Given the description of an element on the screen output the (x, y) to click on. 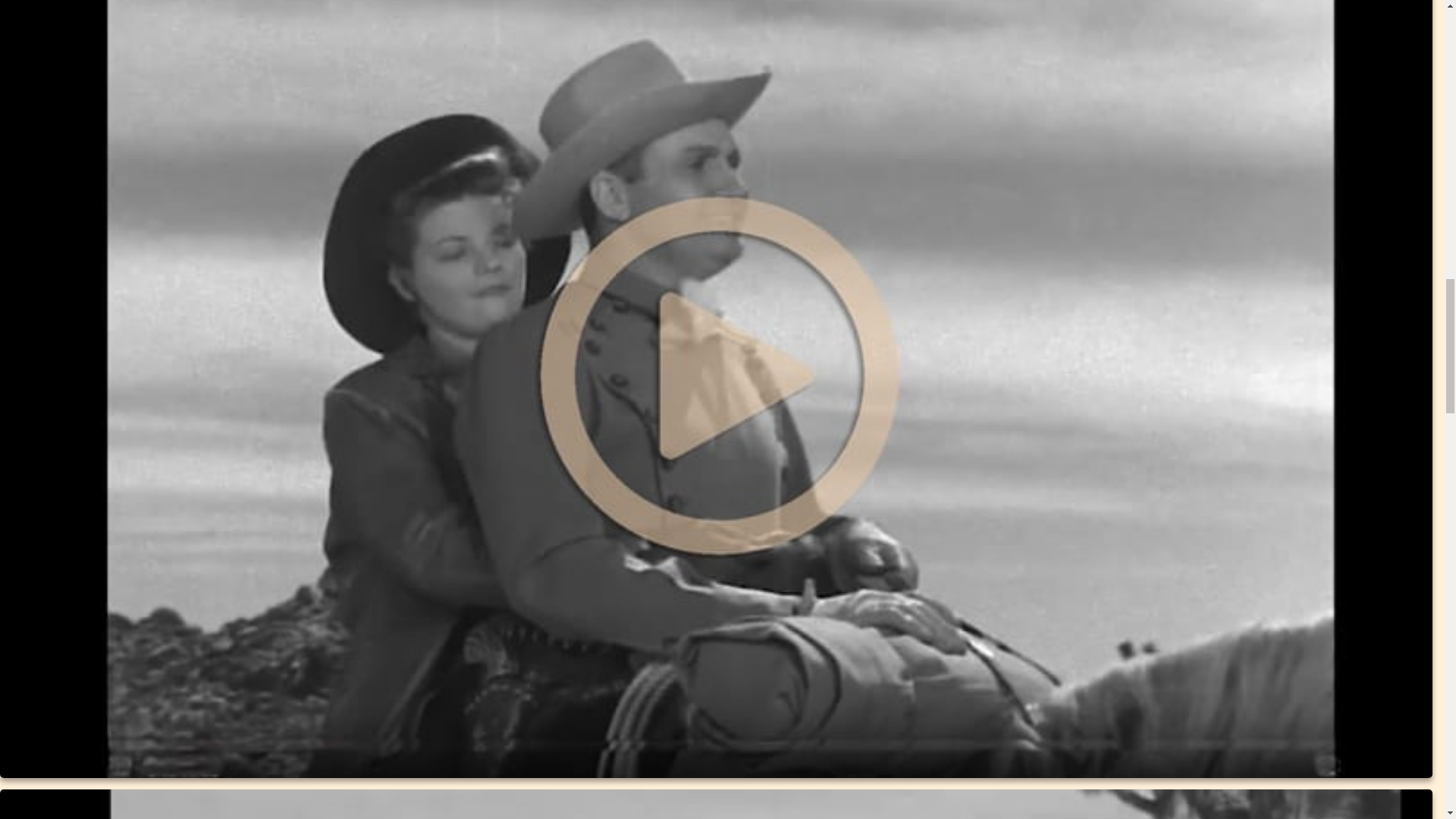
Last of the Pony Riders (716, 804)
Last of the Pony Riders (716, 804)
